Given the description of an element on the screen output the (x, y) to click on. 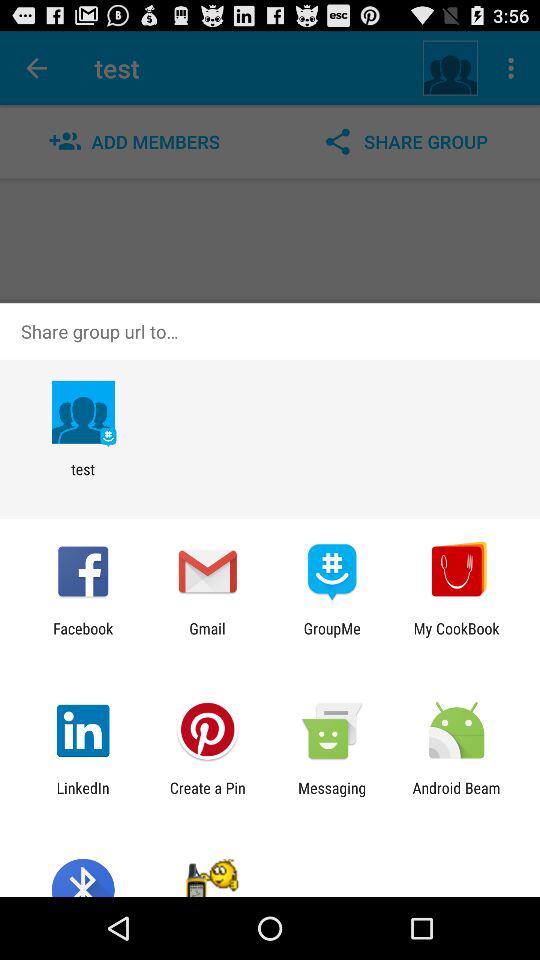
open item to the left of the groupme app (207, 637)
